Given the description of an element on the screen output the (x, y) to click on. 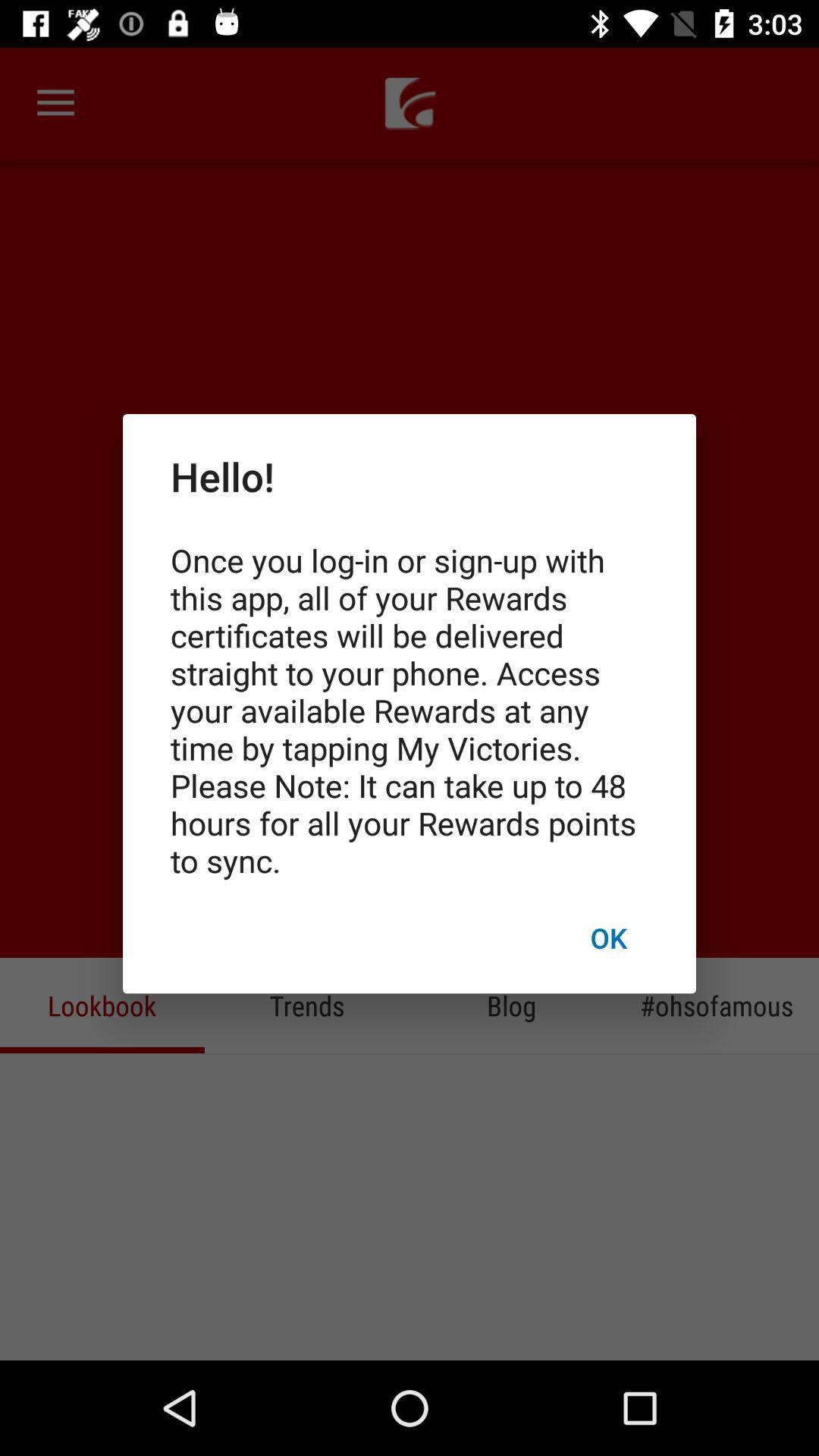
scroll until the ok (608, 937)
